Given the description of an element on the screen output the (x, y) to click on. 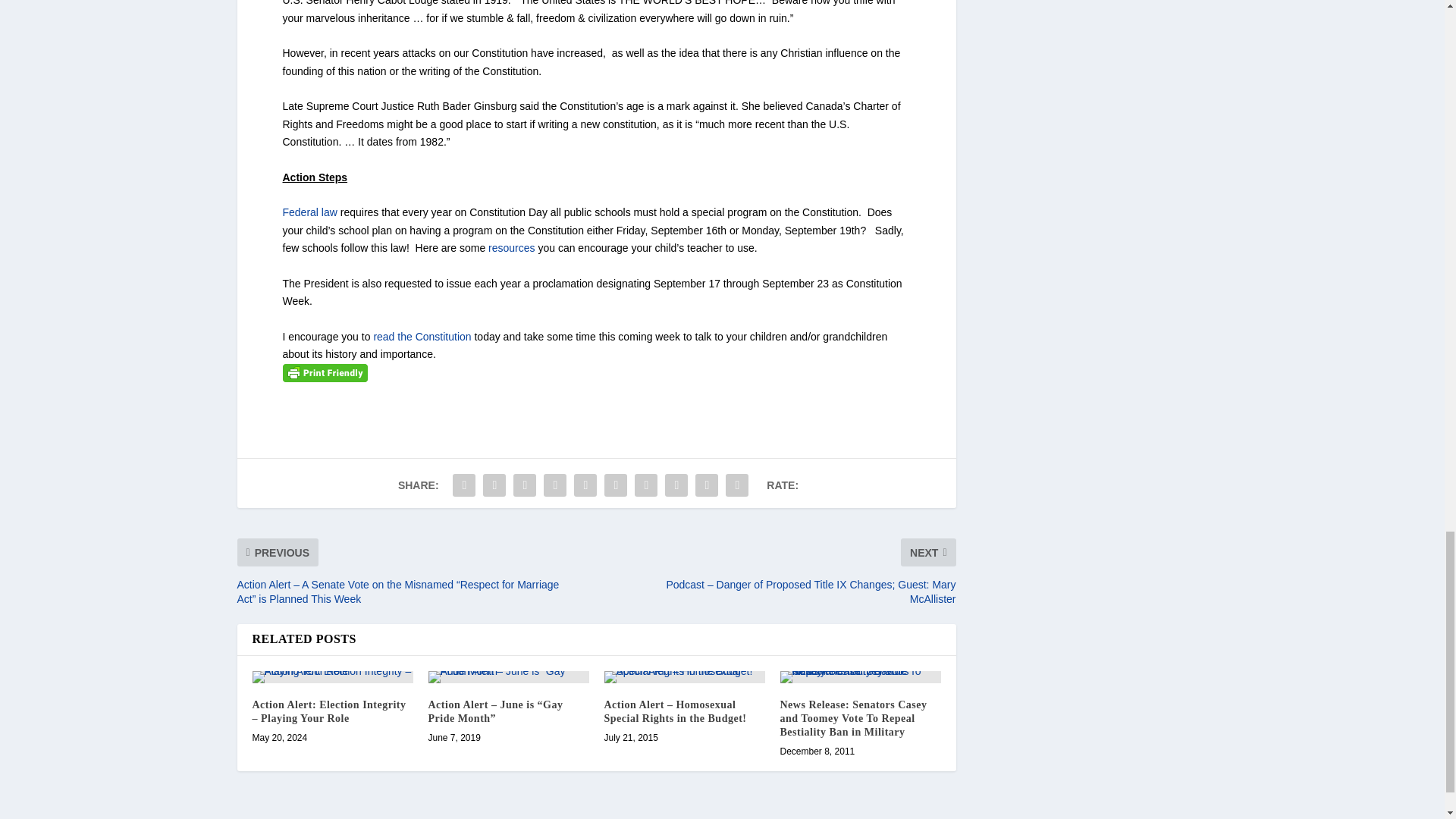
read the Constitution (421, 336)
resources (510, 247)
Federal law (309, 212)
